Given the description of an element on the screen output the (x, y) to click on. 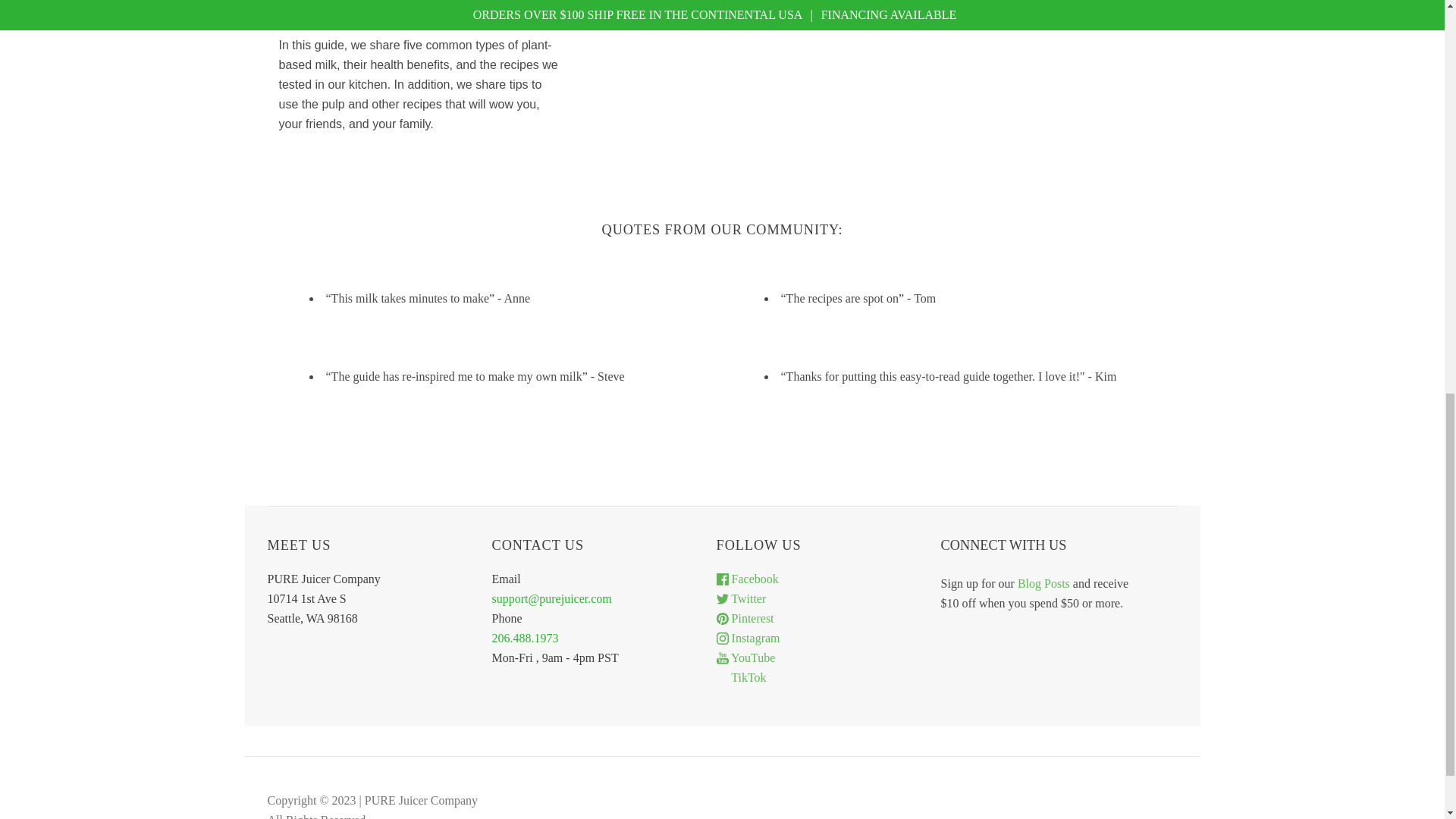
YouTube (746, 657)
Blog Posts (1043, 583)
206.488.1973 (525, 637)
YouTube (746, 657)
TikTok (741, 676)
Instagram (748, 637)
Twitter (741, 598)
Pinterest (745, 617)
Facebook (747, 578)
Pinterest (745, 617)
